Given the description of an element on the screen output the (x, y) to click on. 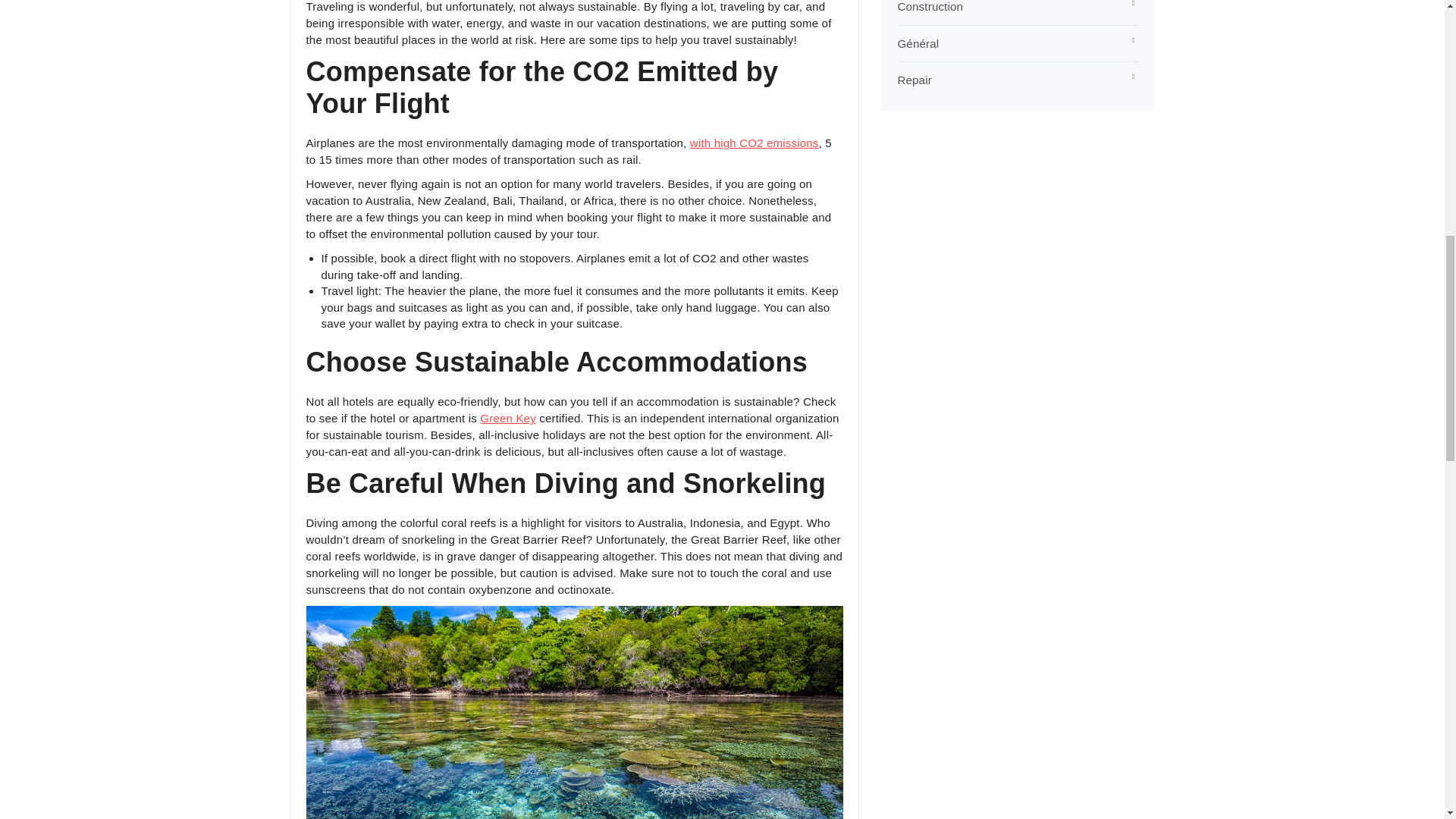
Construction (930, 6)
Green Key (507, 418)
with high CO2 emissions (754, 142)
Repair (914, 79)
